Given the description of an element on the screen output the (x, y) to click on. 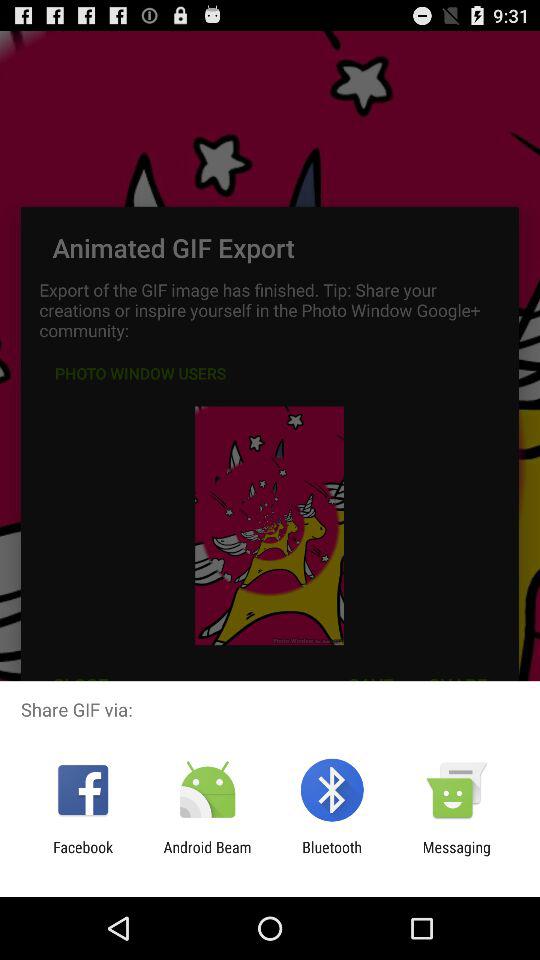
open item to the left of the bluetooth (207, 856)
